Given the description of an element on the screen output the (x, y) to click on. 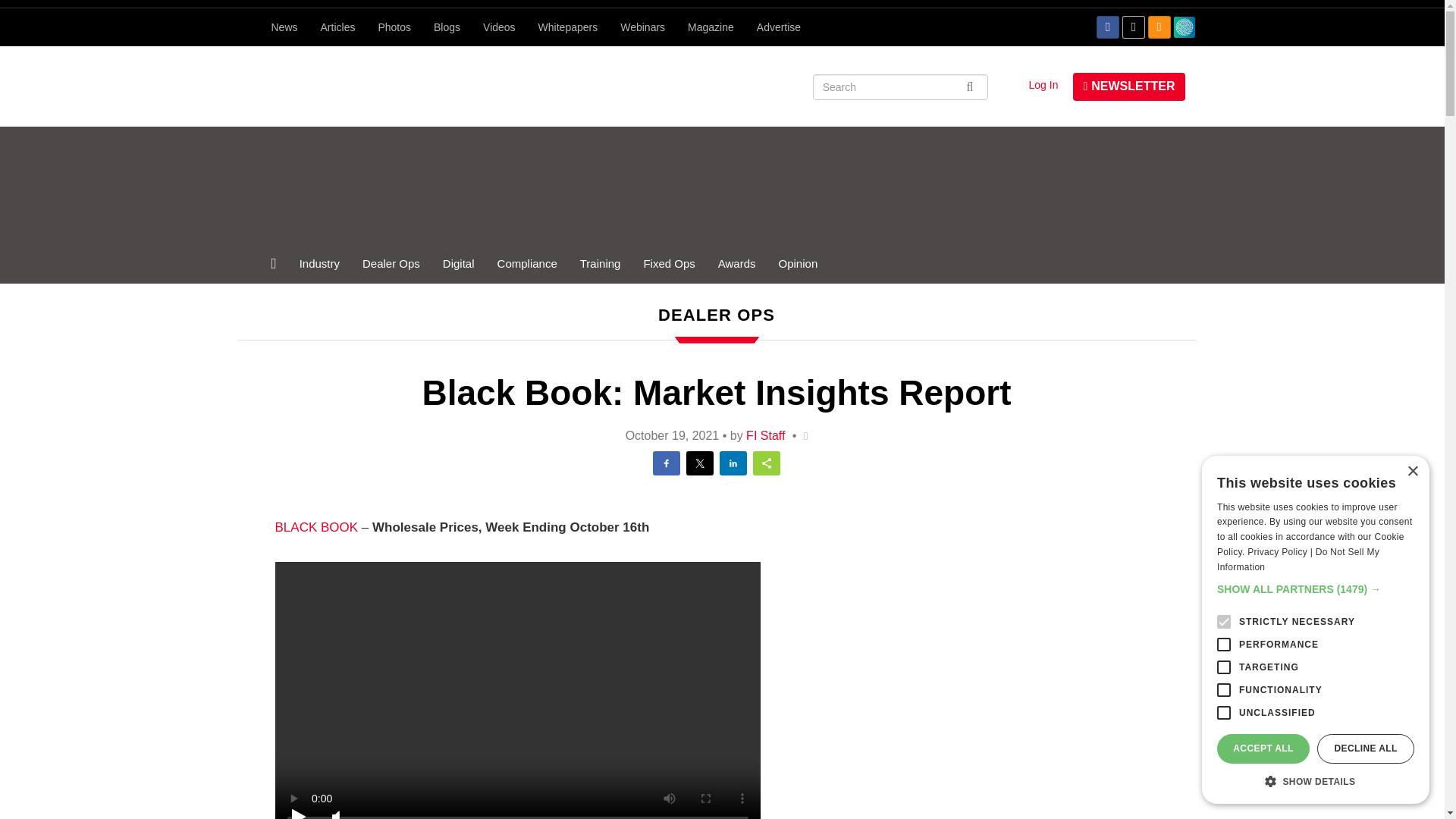
Videos (499, 26)
Magazine (711, 26)
News (283, 26)
Whitepapers (568, 26)
Blogs (446, 26)
Articles (337, 26)
Photos (394, 26)
Webinars (642, 26)
